Given the description of an element on the screen output the (x, y) to click on. 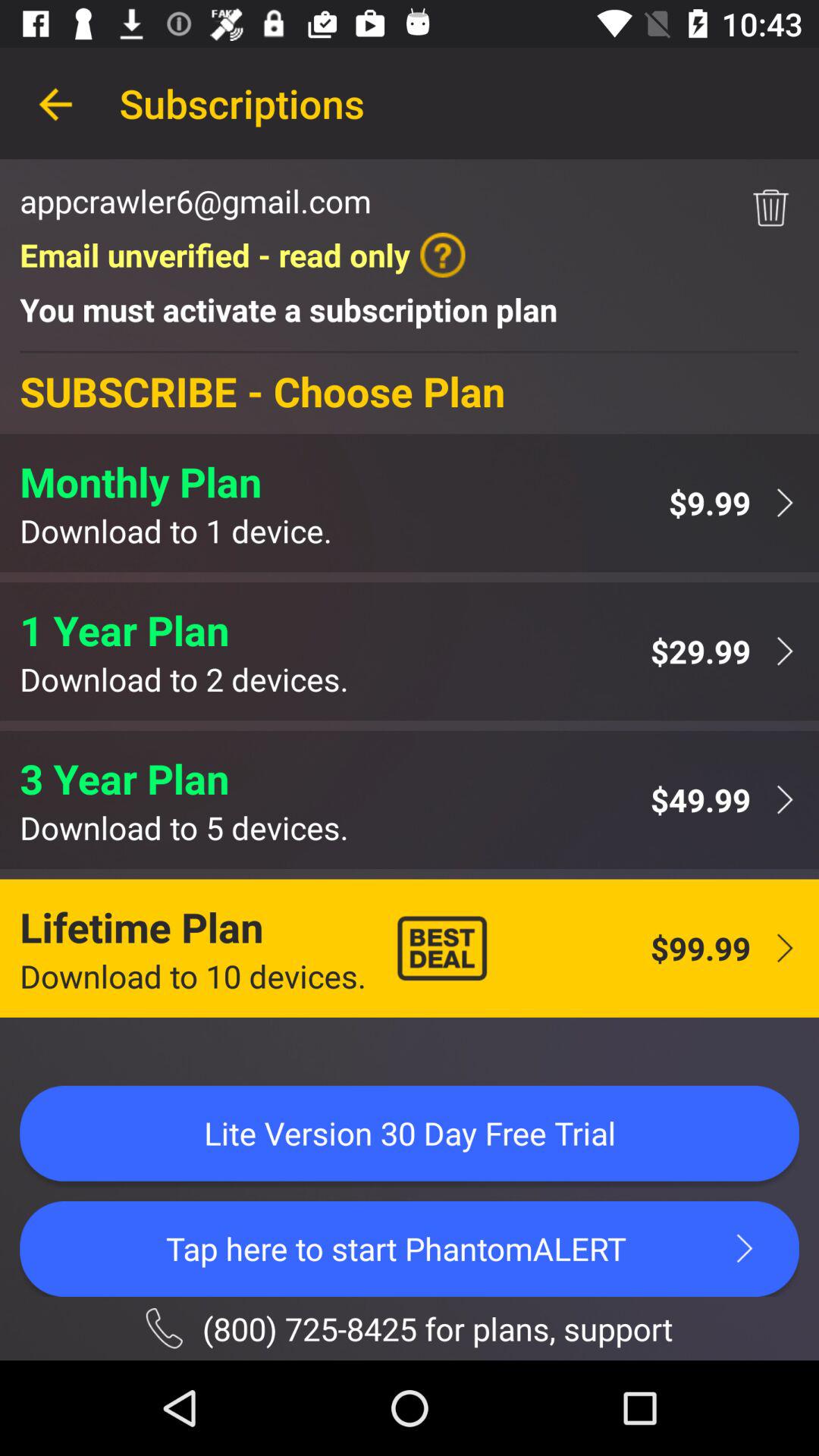
swipe to the lite version 30 (409, 1133)
